Given the description of an element on the screen output the (x, y) to click on. 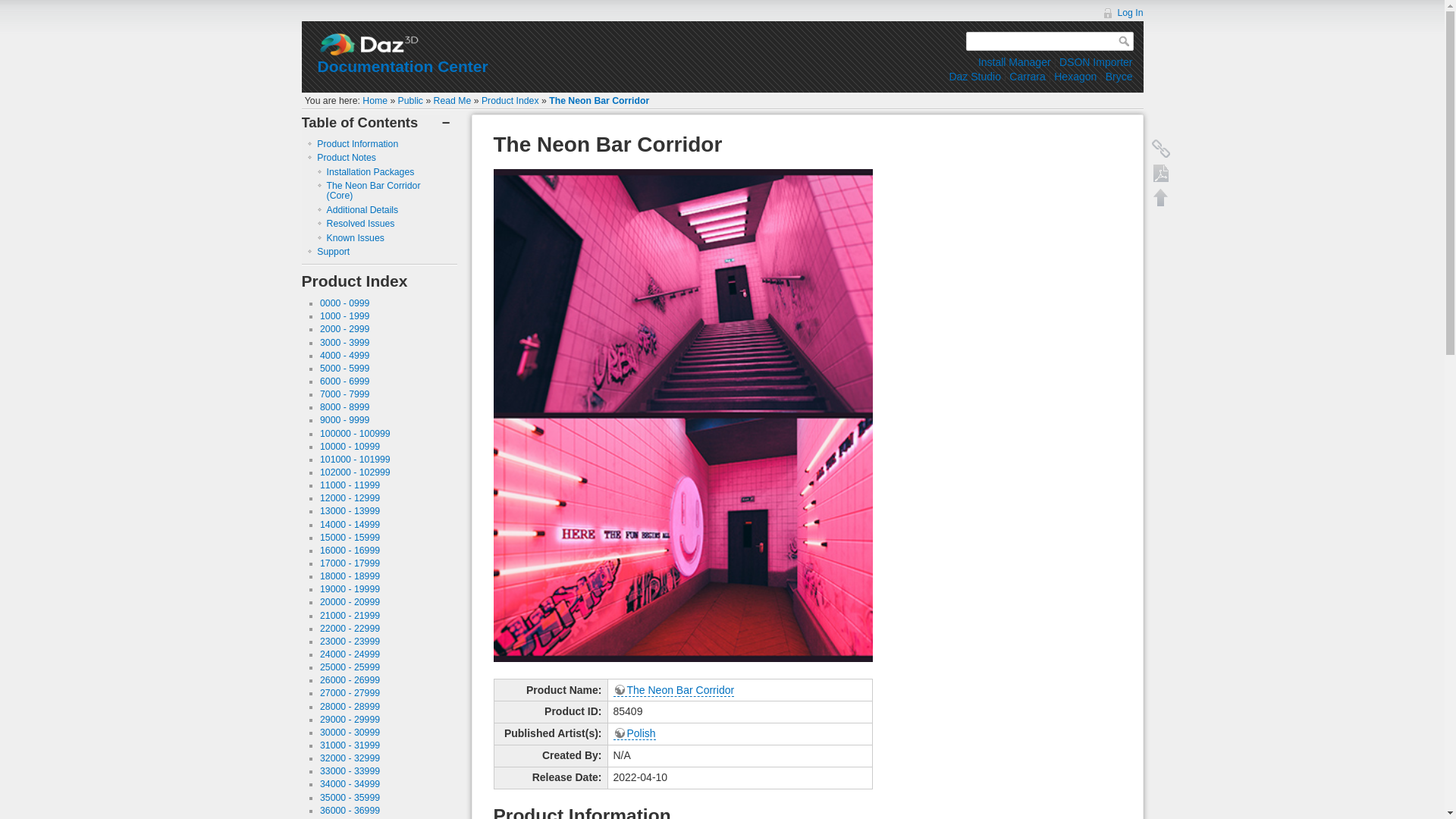
Product Index (509, 100)
5000 - 5999 (344, 368)
6000 - 6999 (344, 380)
Log In (1122, 12)
4000 - 4999 (344, 355)
Read Me (452, 100)
Search (1125, 40)
7000 - 7999 (344, 394)
Daz Studio (974, 76)
public:software:carrara:start (1027, 76)
public:software:hexagon:start (1075, 76)
public:software:bryce:start (1118, 76)
Support (333, 251)
1000 - 1999 (344, 316)
Carrara (1027, 76)
